Given the description of an element on the screen output the (x, y) to click on. 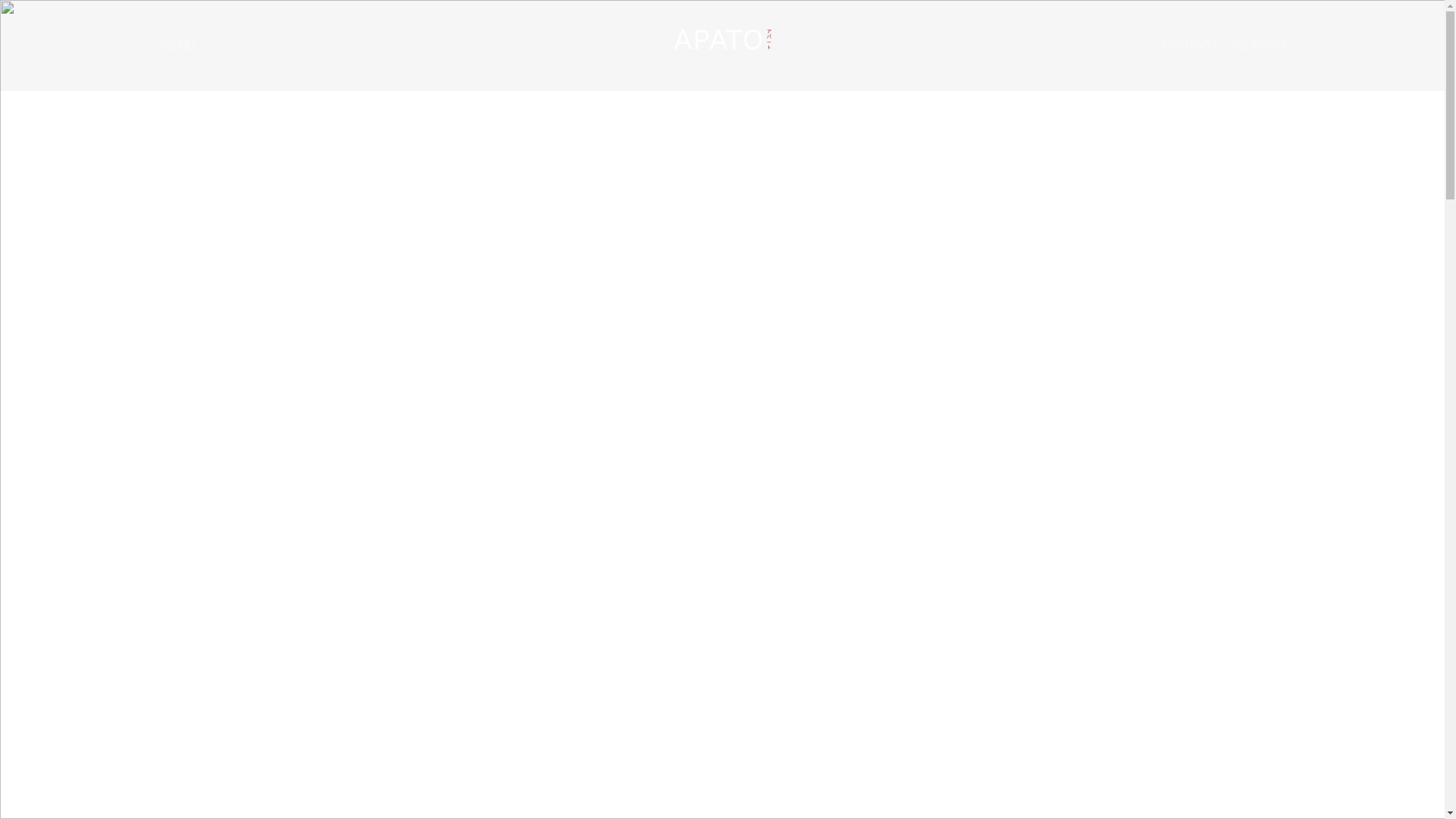
SEARCH (1258, 45)
Subscribe (1209, 535)
CONTACT (1189, 45)
MENU (177, 44)
